Given the description of an element on the screen output the (x, y) to click on. 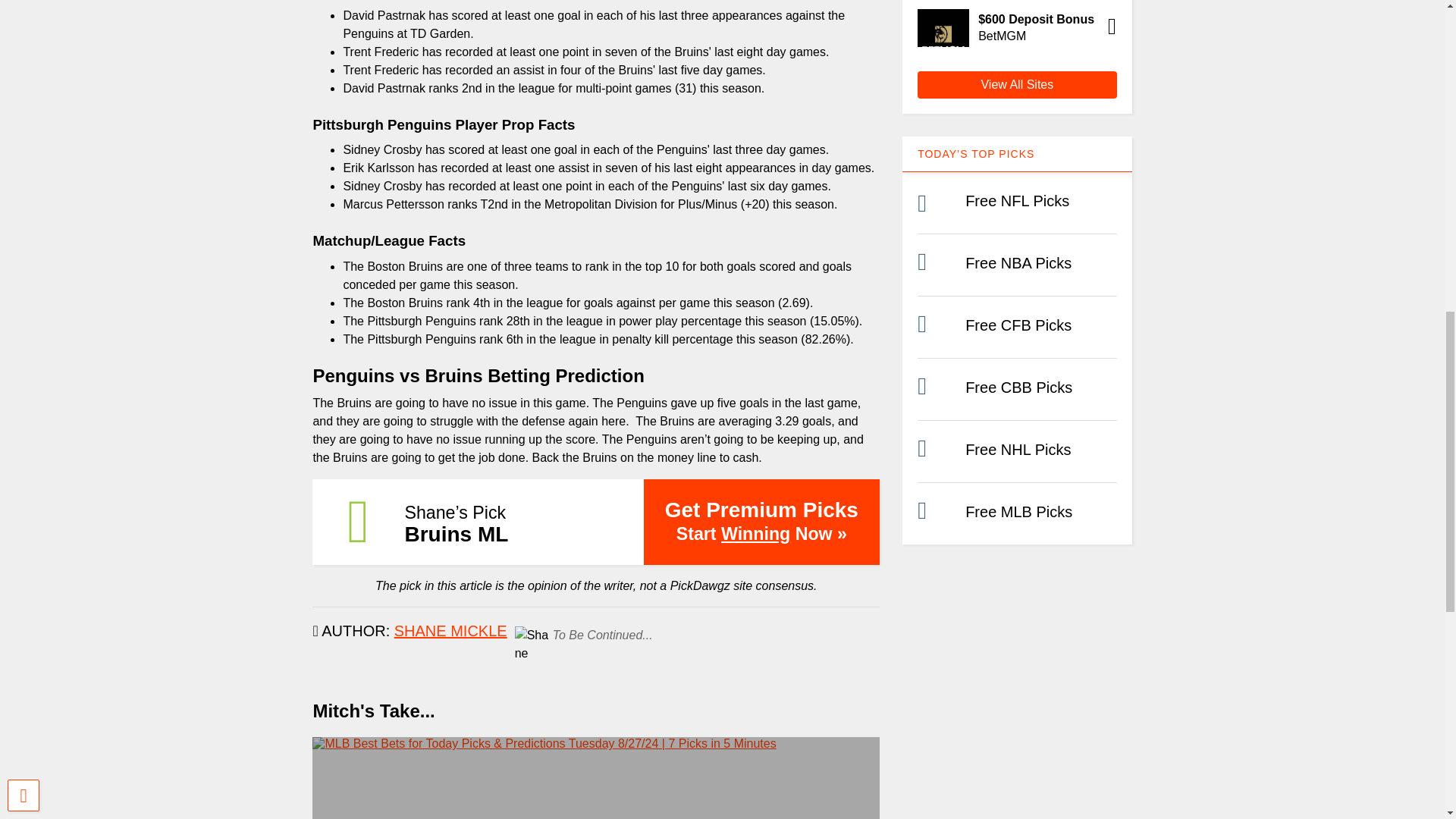
Free NFL Picks (1016, 200)
Free MLB Picks (1018, 511)
Free CBB Picks (1018, 387)
Free NBA Picks (1018, 262)
Free CFB Picks (1018, 324)
Free NHL Picks (1017, 449)
author profile (450, 630)
